Given the description of an element on the screen output the (x, y) to click on. 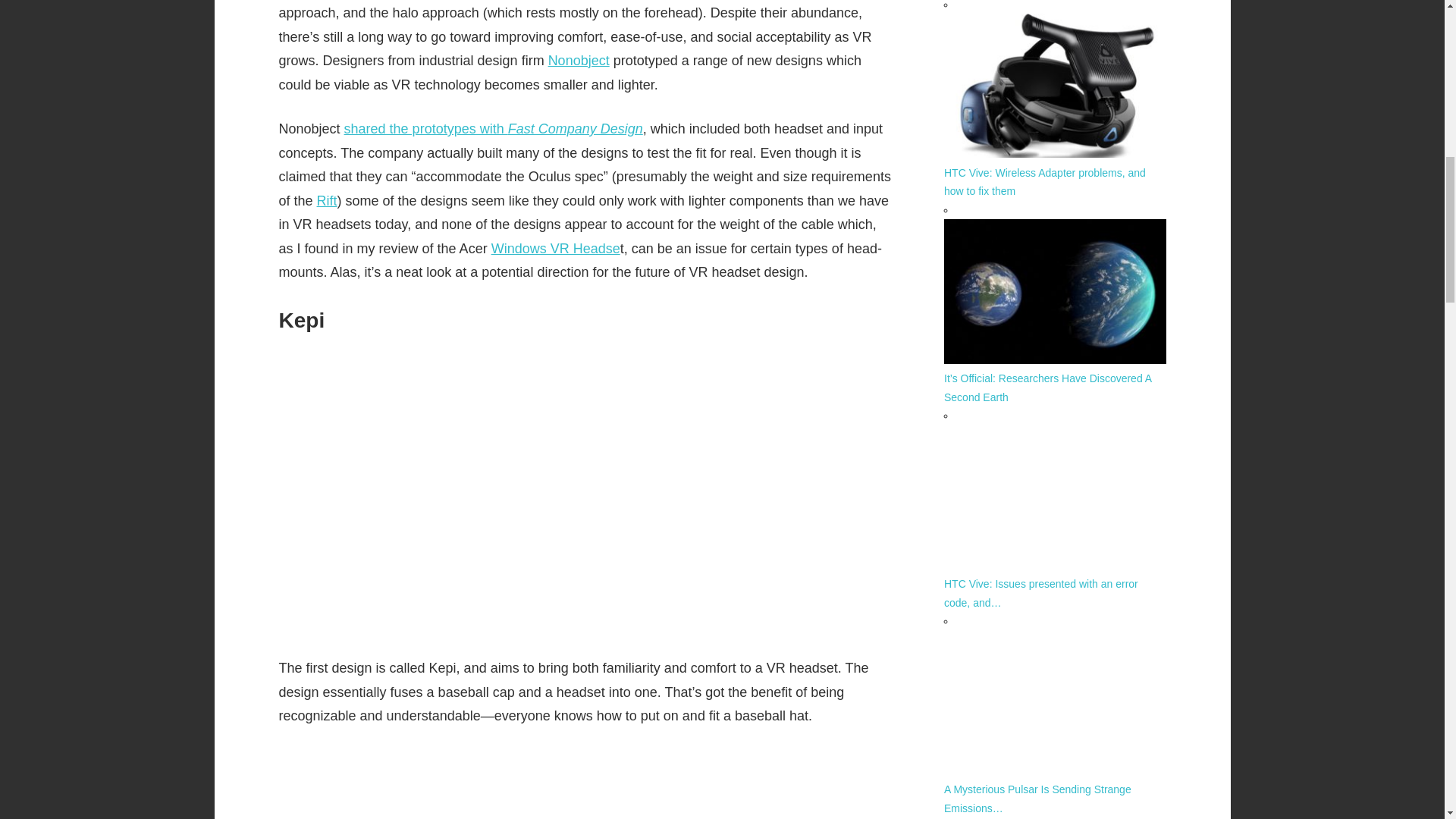
Windows VR Headse (556, 248)
Nonobject (579, 60)
Rift (327, 200)
shared the prototypes with Fast Company Design (493, 128)
